Given the description of an element on the screen output the (x, y) to click on. 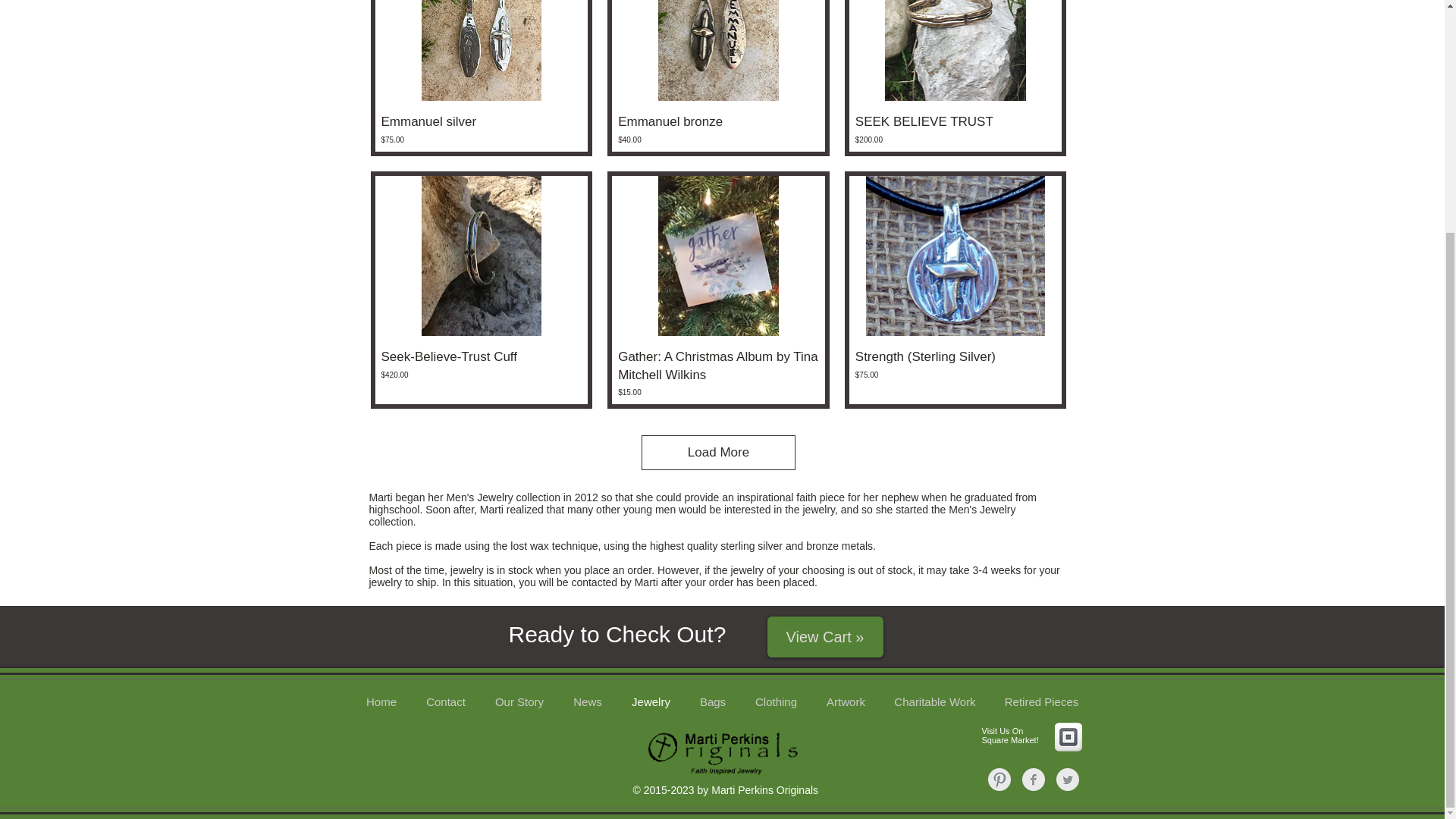
brown (718, 50)
